Given the description of an element on the screen output the (x, y) to click on. 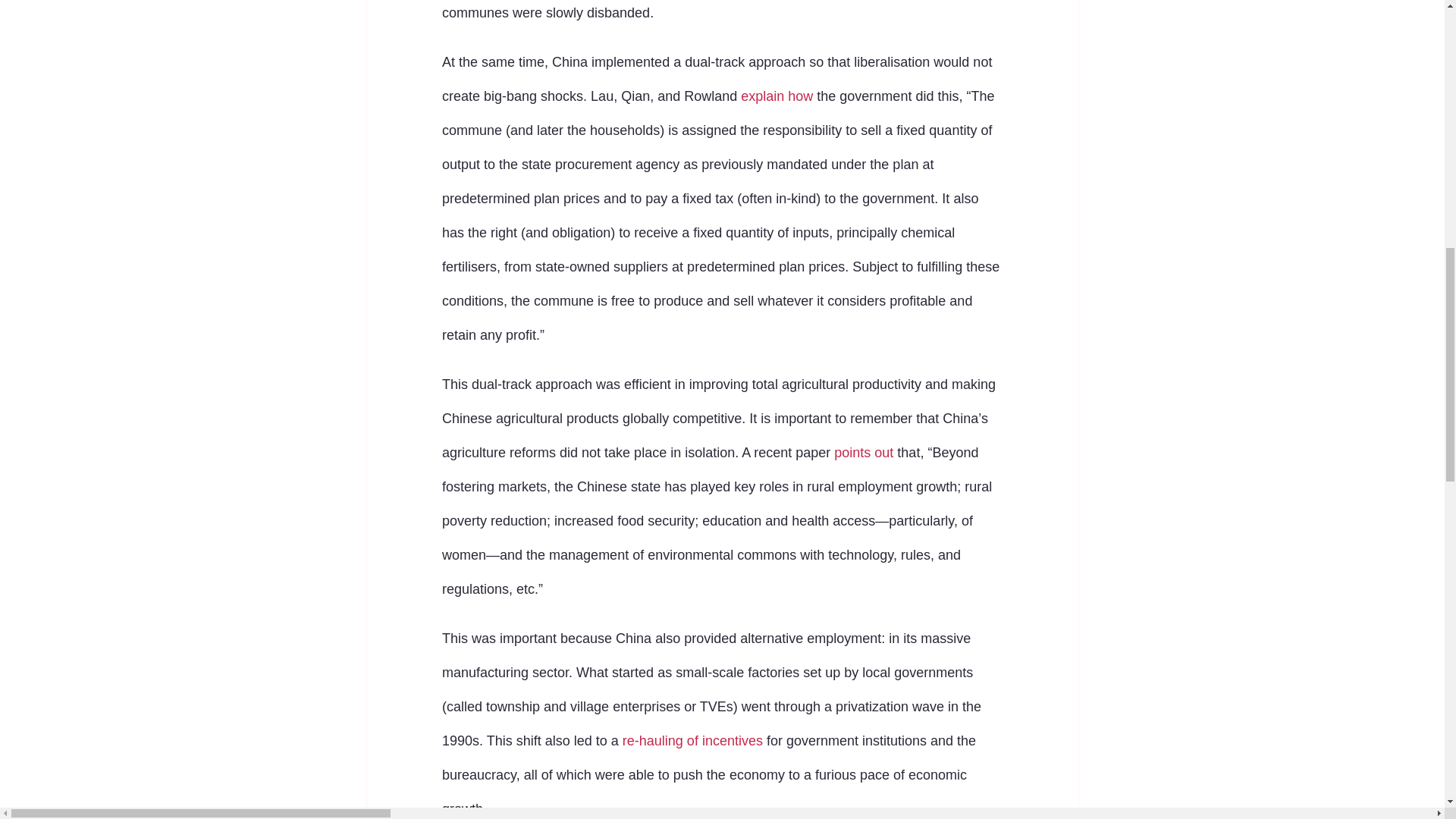
points out (863, 452)
re-hauling of incentives (691, 740)
explain how (776, 96)
